Given the description of an element on the screen output the (x, y) to click on. 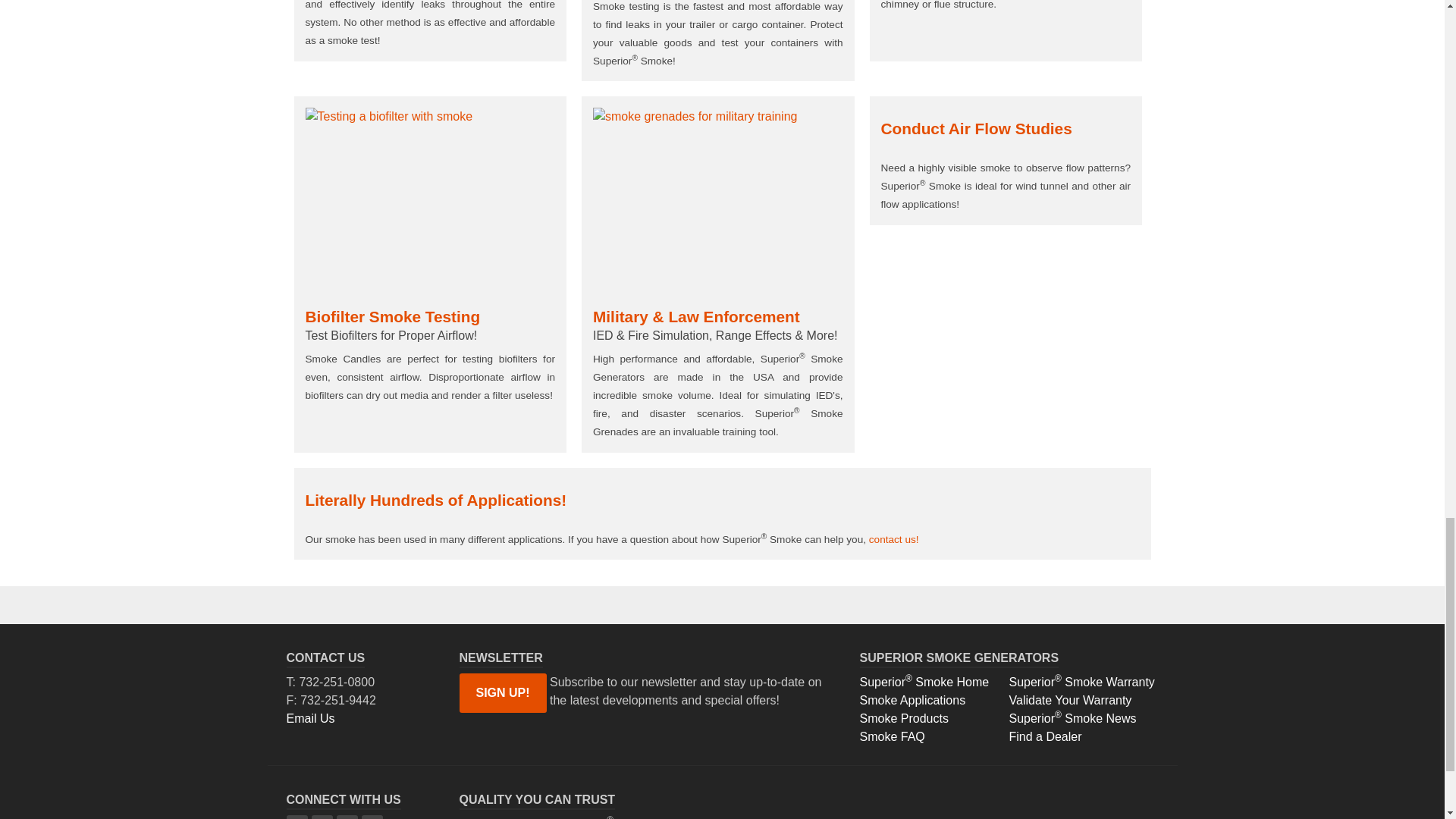
Biofilter Smoke Testing (429, 201)
Military Smoke Grenades (717, 201)
